Given the description of an element on the screen output the (x, y) to click on. 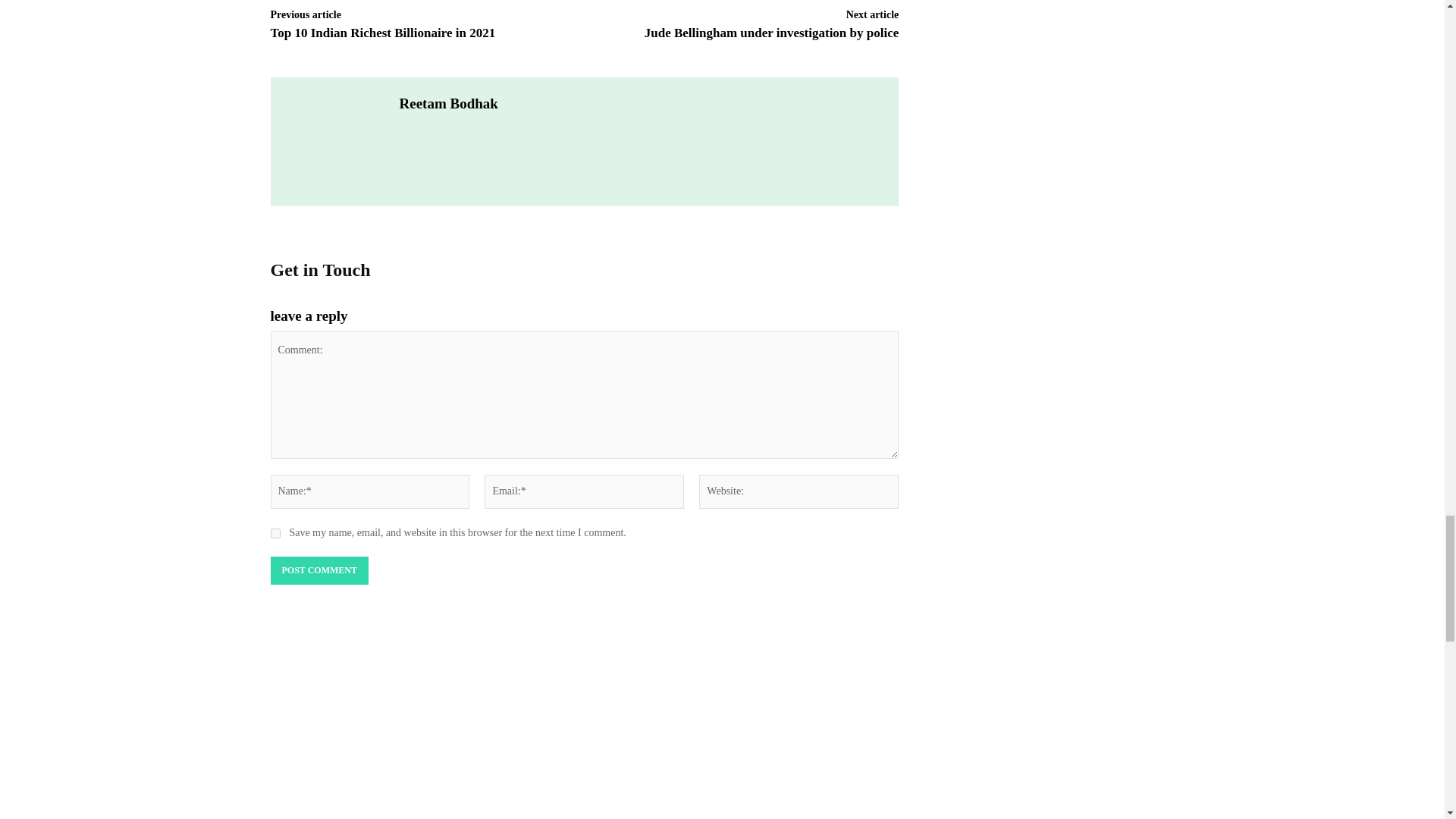
yes (274, 533)
Post Comment (318, 570)
